Given the description of an element on the screen output the (x, y) to click on. 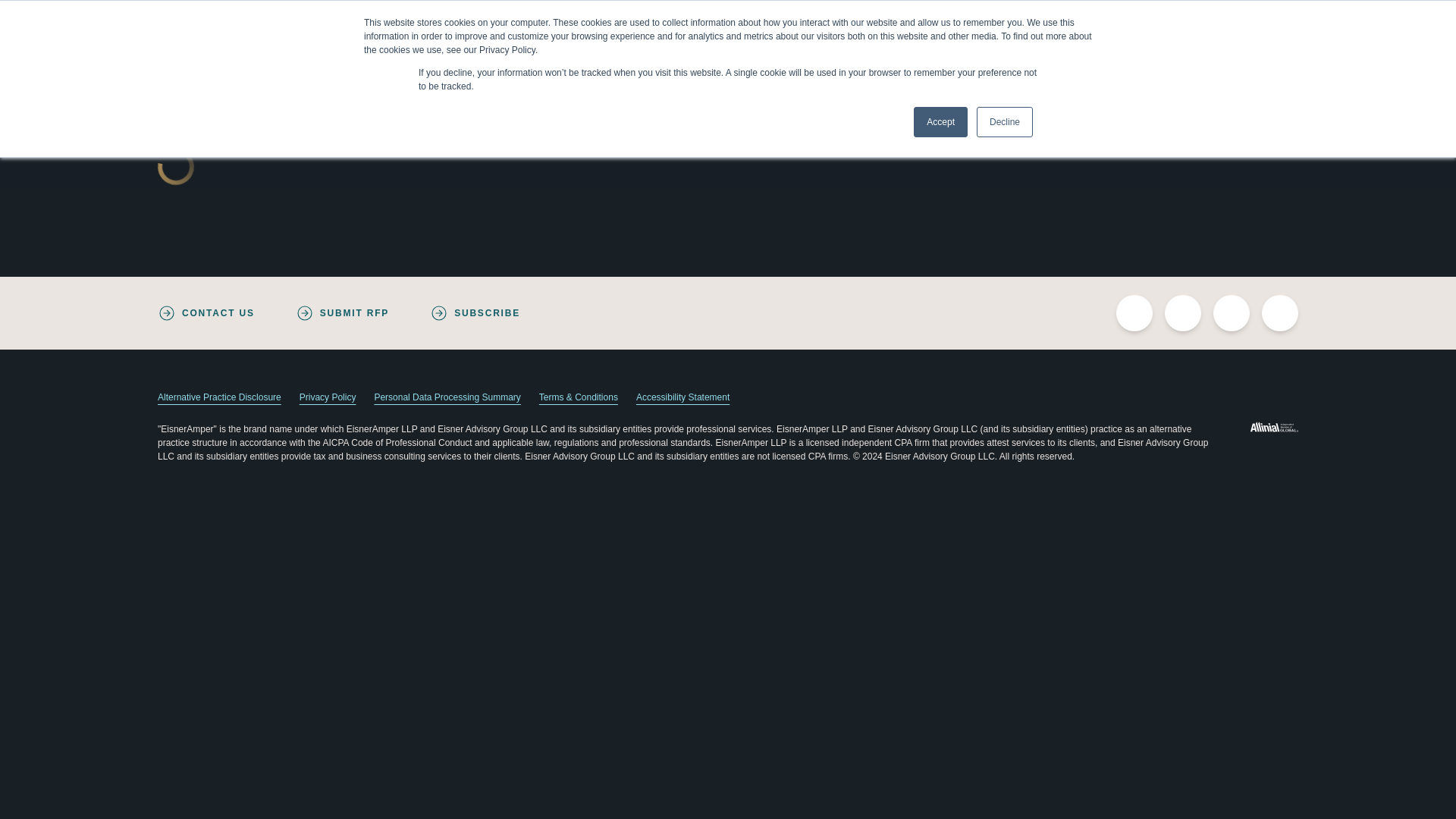
Search (1263, 17)
Accept (941, 122)
Client Resources (1179, 17)
EisnerAmper Home (259, 67)
Skip to content (12, 6)
Decline (1004, 122)
Contact Us (1043, 17)
Careers (1104, 17)
